Given the description of an element on the screen output the (x, y) to click on. 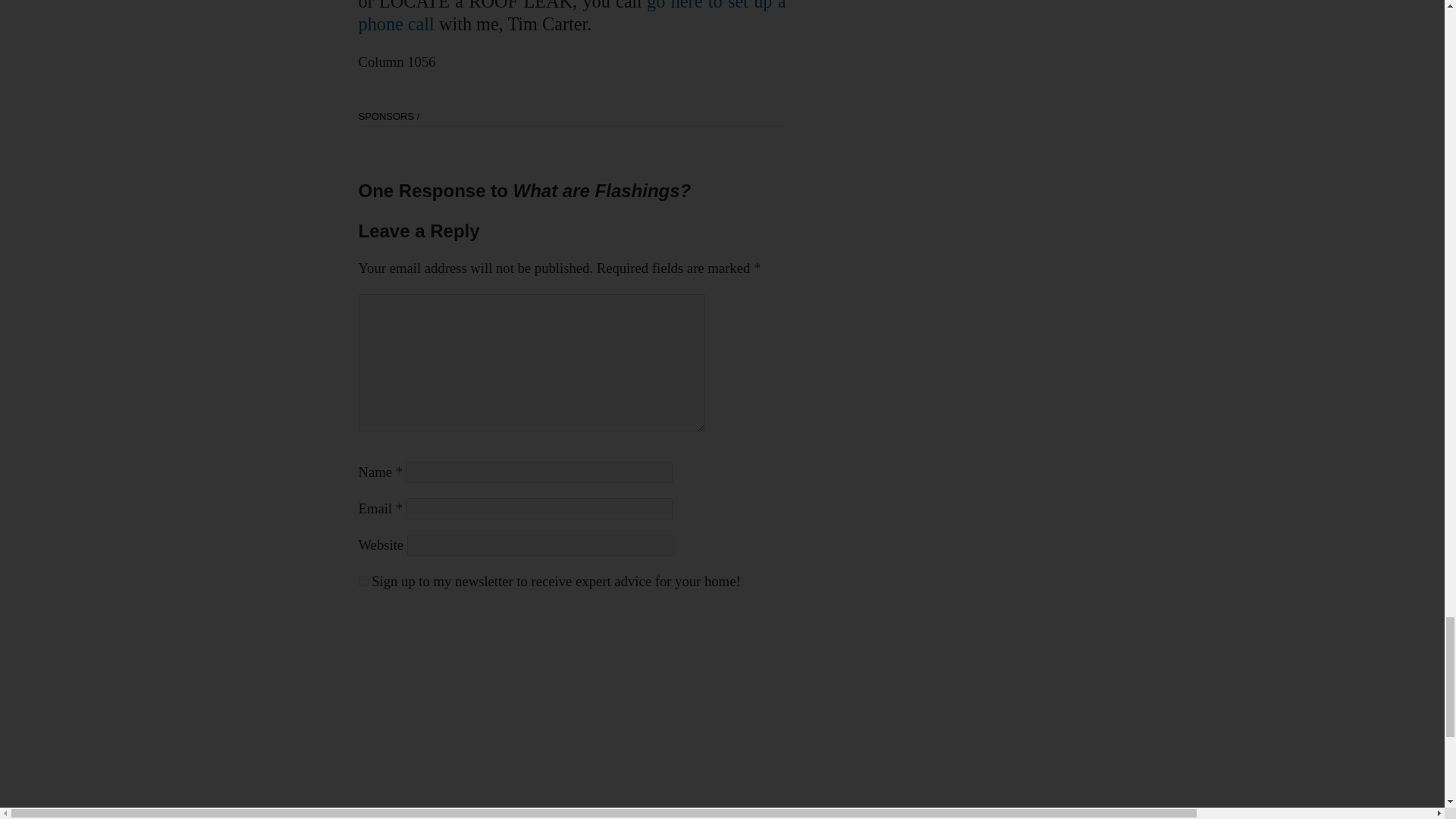
1 (363, 581)
